Given the description of an element on the screen output the (x, y) to click on. 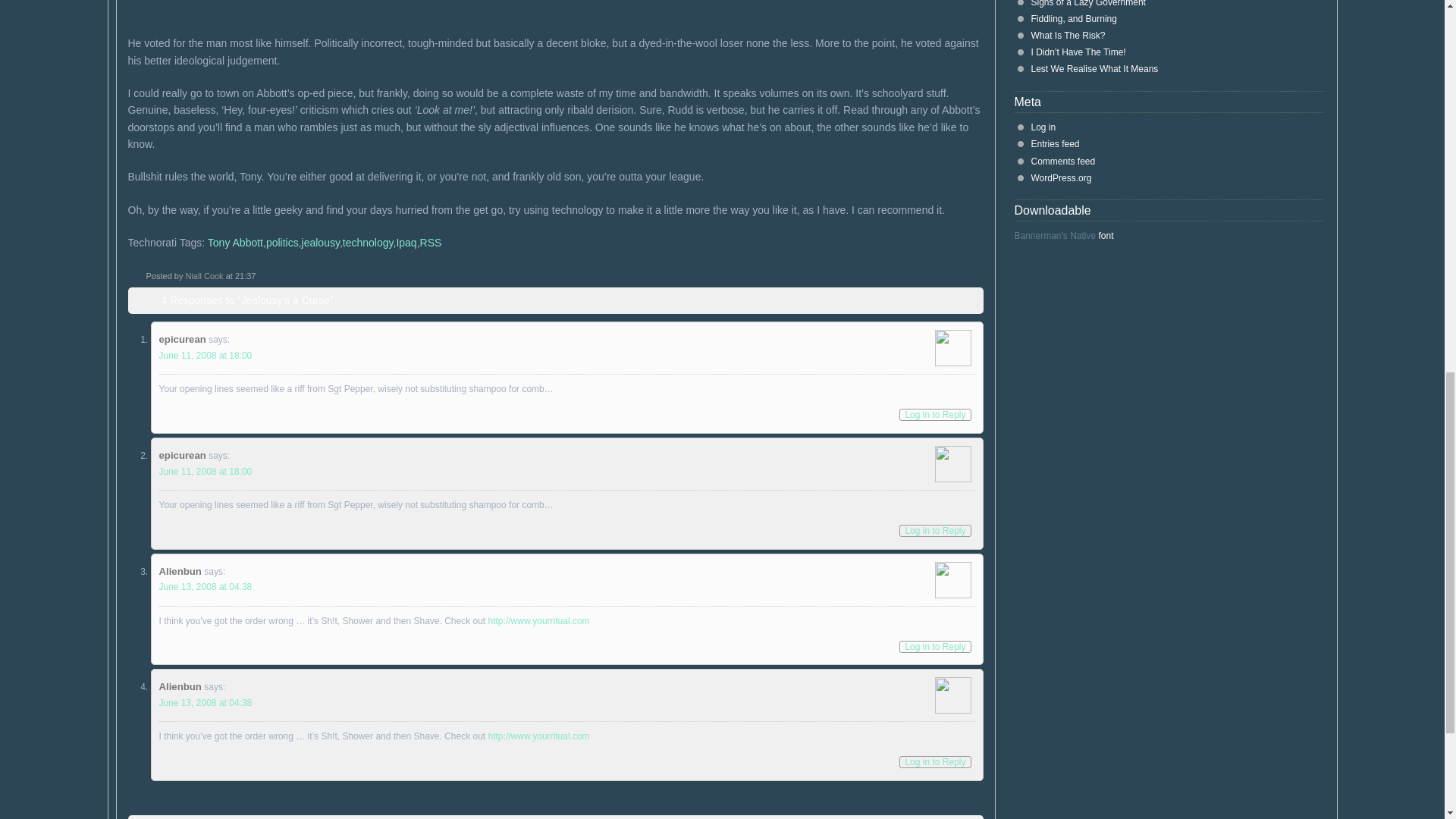
Log in to Reply (935, 530)
Log in to Reply (935, 414)
RSS (431, 242)
Log in to Reply (935, 761)
June 13, 2008 at 04:38 (204, 586)
June 13, 2008 at 04:38 (204, 702)
Tony Abbott (235, 242)
June 11, 2008 at 18:00 (204, 471)
Ipaq (406, 242)
June 11, 2008 at 18:00 (204, 355)
